Given the description of an element on the screen output the (x, y) to click on. 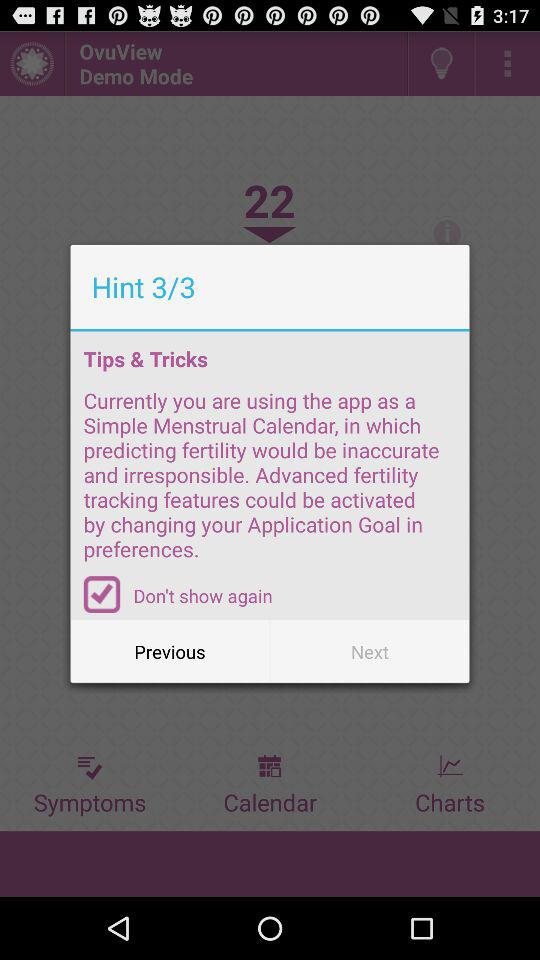
turn on the currently you are (269, 481)
